Given the description of an element on the screen output the (x, y) to click on. 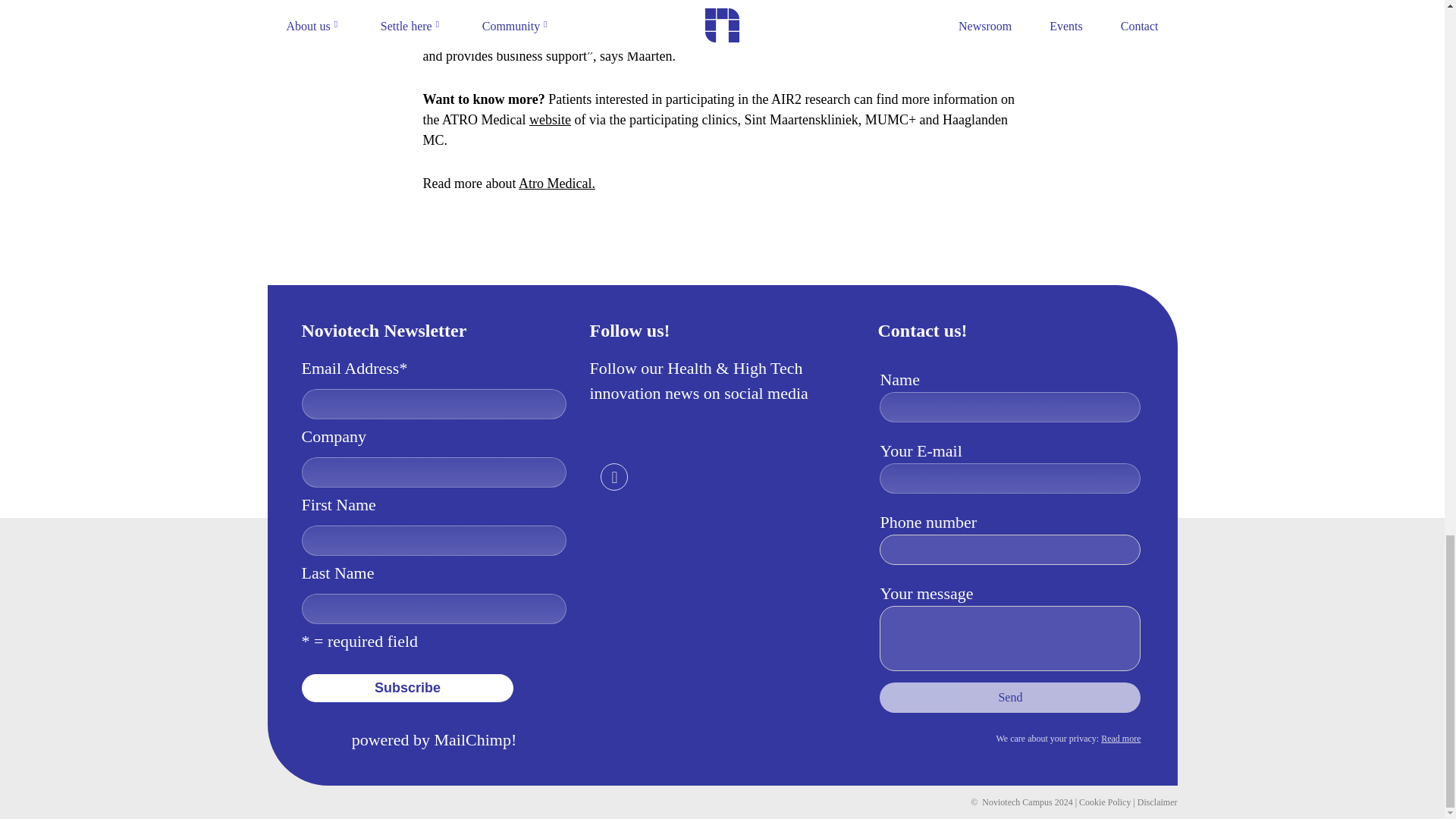
MailChimp (472, 739)
website (549, 119)
Send (1009, 697)
Atro Medical. (556, 183)
Subscribe (407, 687)
Subscribe (407, 687)
